Given the description of an element on the screen output the (x, y) to click on. 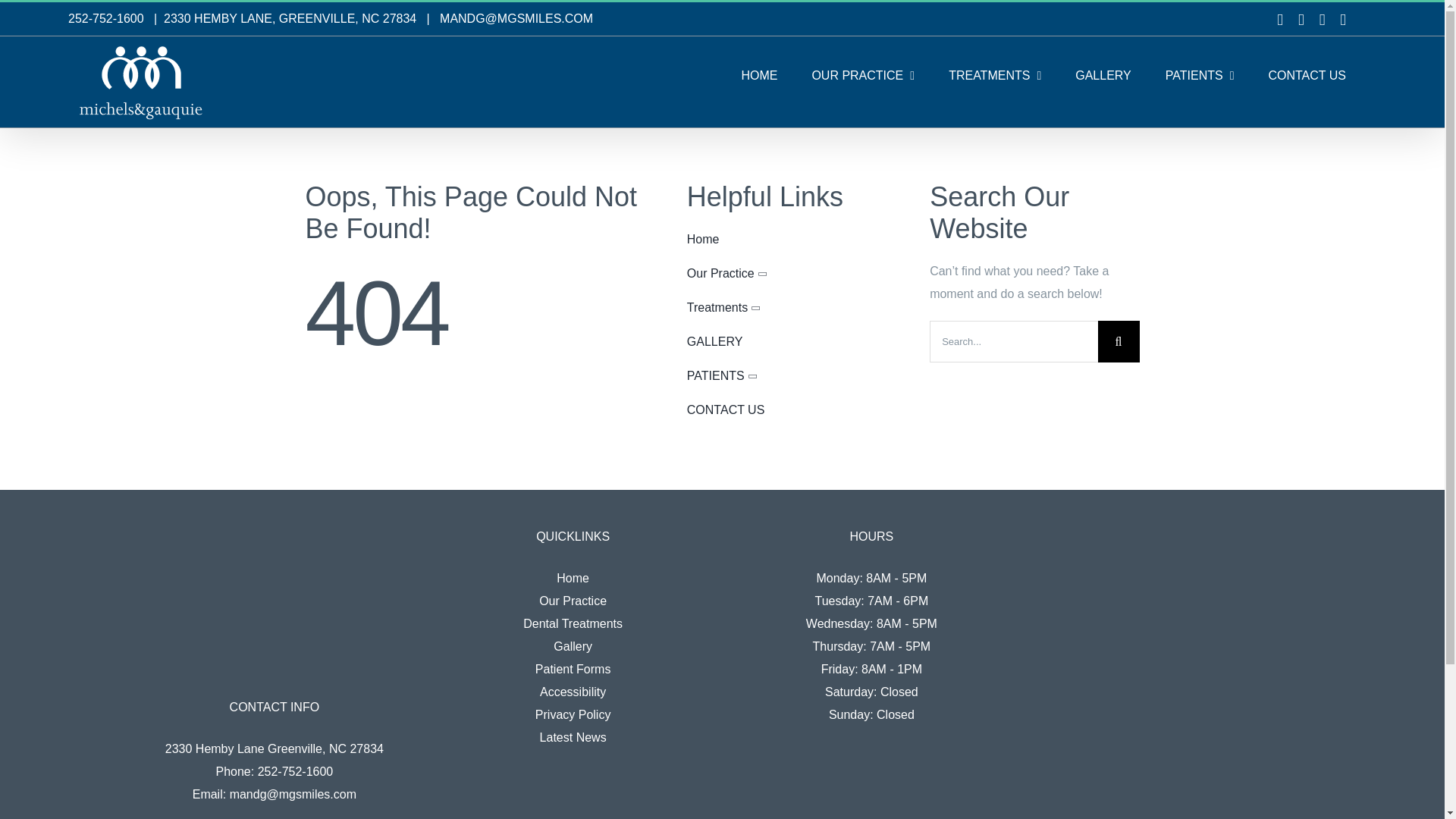
252-752-1600 (106, 18)
2330 HEMBY LANE, GREENVILLE, NC 27834 (289, 18)
TREATMENTS (995, 75)
OUR PRACTICE (862, 75)
